Given the description of an element on the screen output the (x, y) to click on. 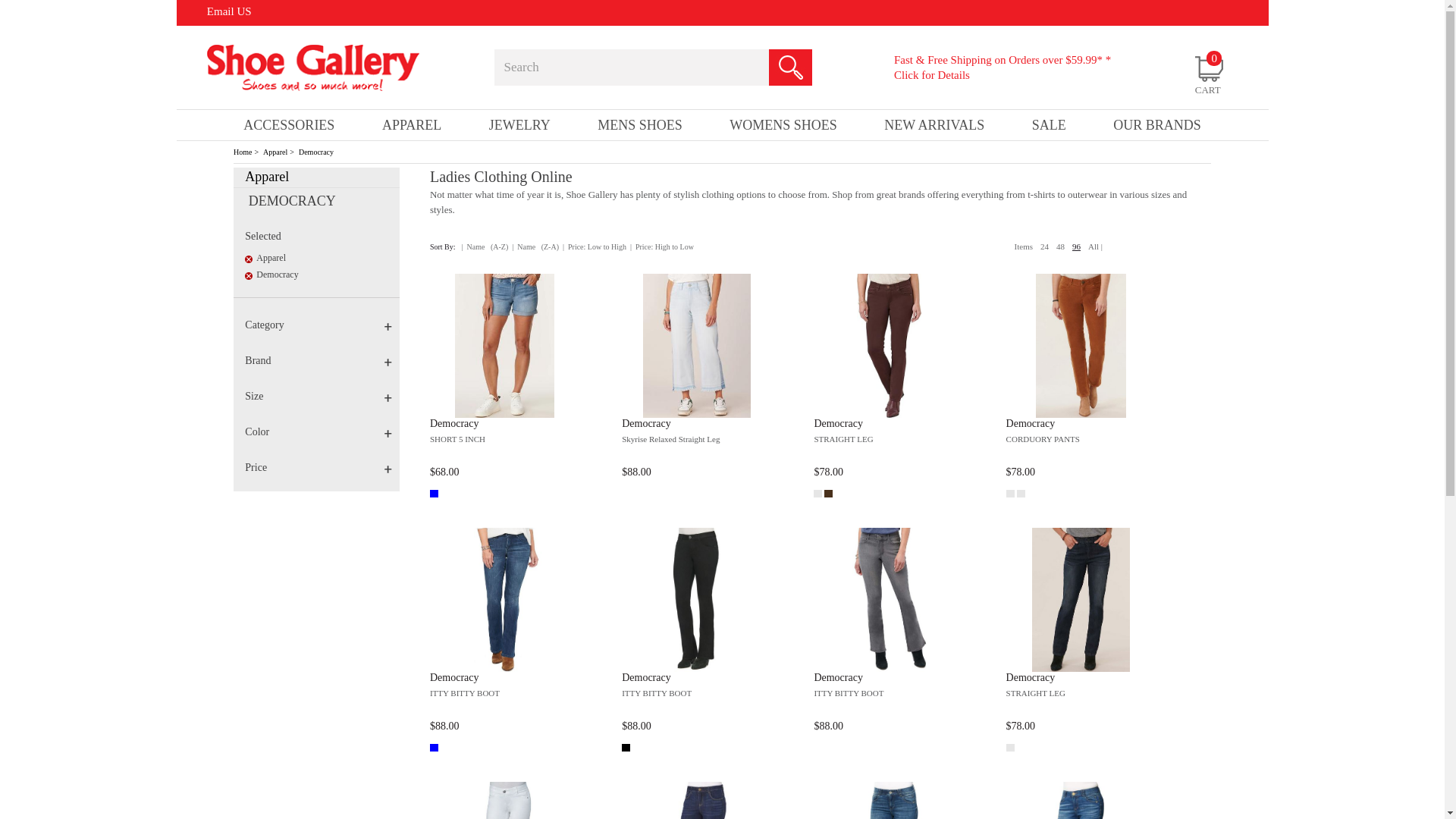
Color (321, 431)
Home (241, 152)
Democracy (315, 152)
Size (321, 396)
Category (321, 325)
Search (621, 67)
Apparel (321, 260)
Democracy (321, 277)
Shop Apparel products (274, 152)
SHADOW (828, 493)
Apparel (274, 152)
LTBLUE (433, 493)
Brand (321, 360)
Price (321, 468)
Home (241, 152)
